Given the description of an element on the screen output the (x, y) to click on. 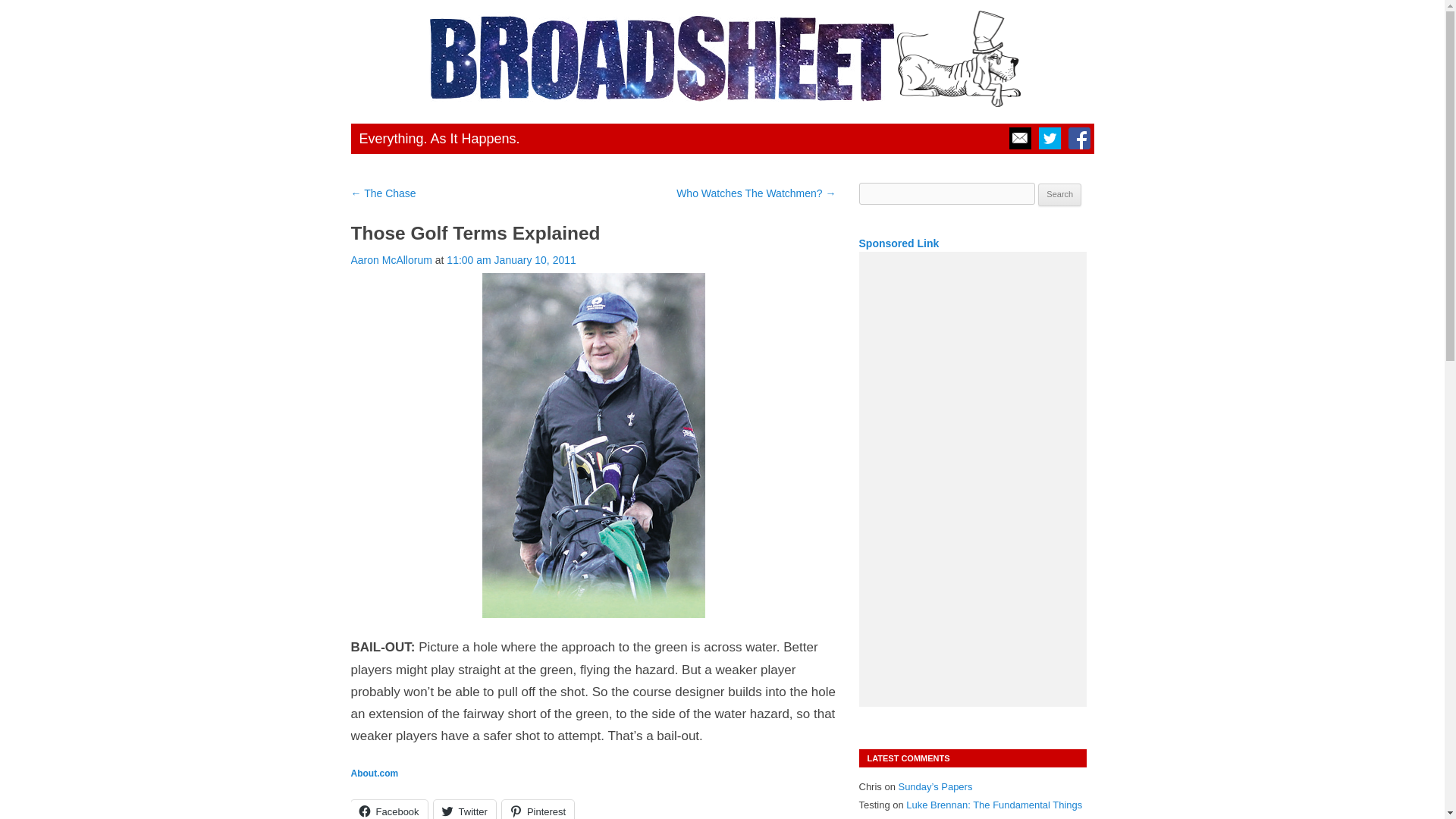
Click to share on Facebook (388, 809)
About.com (373, 773)
Facebook (388, 809)
Twitter (464, 809)
11:00 am (510, 259)
Aaron McAllorum (390, 259)
View all posts by Aaron McAllorum (390, 259)
11:00 am January 10, 2011 (510, 259)
Click to share on Twitter (464, 809)
Pinterest (537, 809)
Click to share on Pinterest (537, 809)
